Given the description of an element on the screen output the (x, y) to click on. 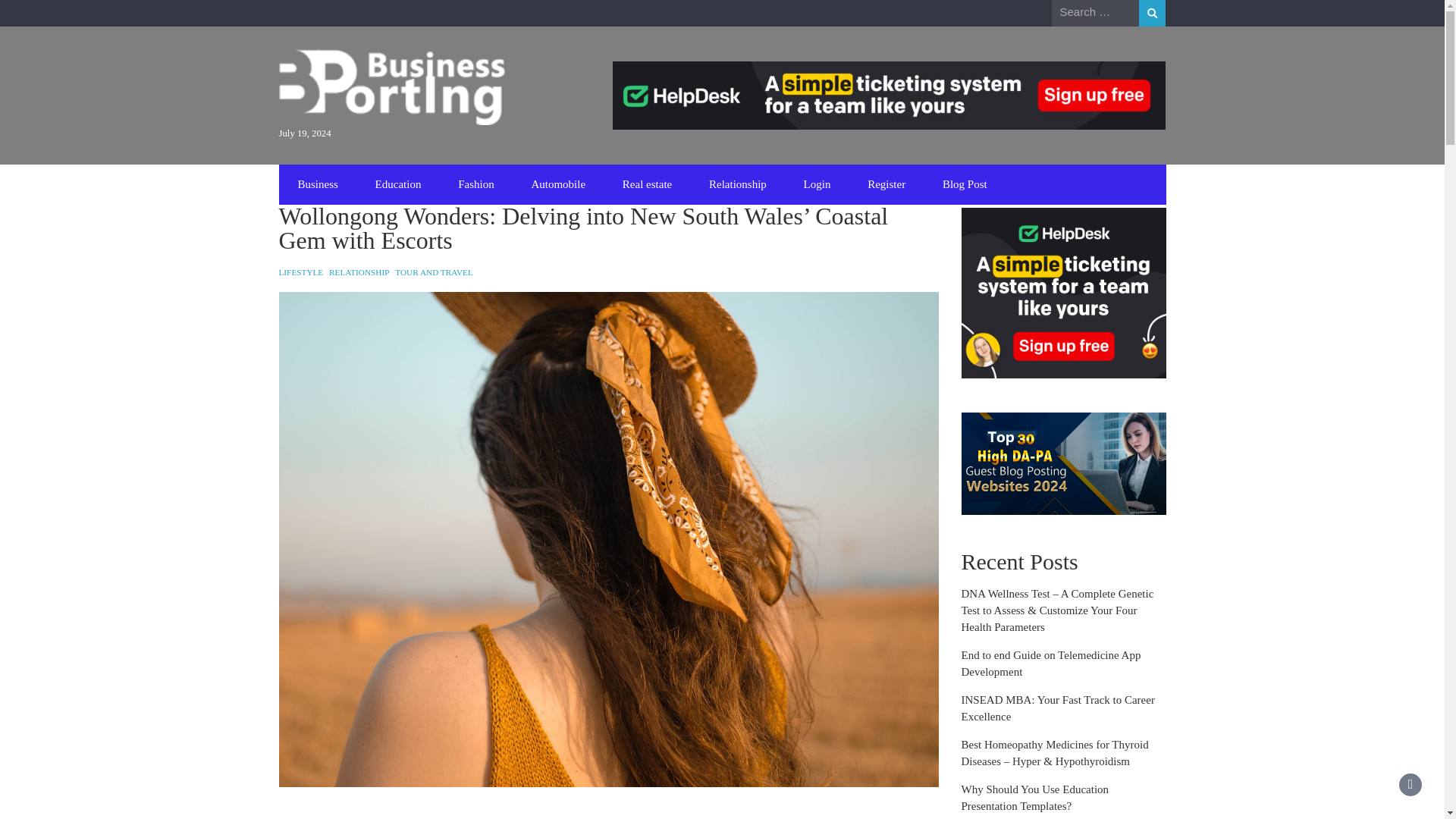
Search (1152, 13)
LIFESTYLE (301, 271)
Search for: (1094, 12)
Relationship (737, 184)
Search (1152, 13)
Register (885, 184)
Blog Post (965, 184)
Education (397, 184)
TOUR AND TRAVEL (433, 271)
Search (1152, 13)
Automobile (557, 184)
Login (817, 184)
RELATIONSHIP (358, 271)
Business (317, 184)
Real estate (647, 184)
